Given the description of an element on the screen output the (x, y) to click on. 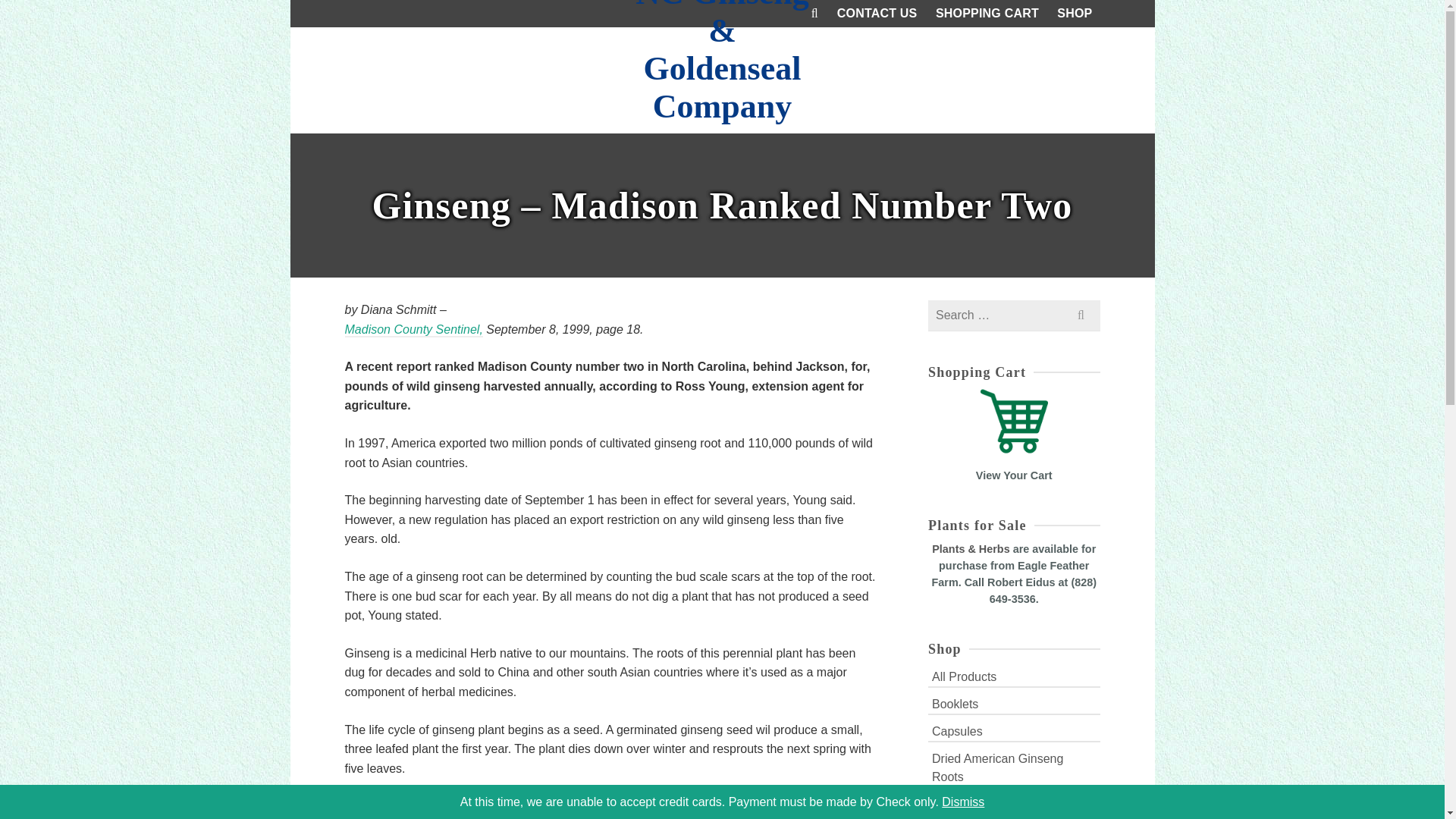
GINSENG (383, 175)
SHOP (1074, 13)
SERVICES (782, 175)
MEDICINAL PLANTS (617, 175)
CONTACT US (876, 13)
EAGLE FEATHER FARM (288, 175)
GOLDENSEAL (495, 175)
SHOPPING CART (987, 13)
